Given the description of an element on the screen output the (x, y) to click on. 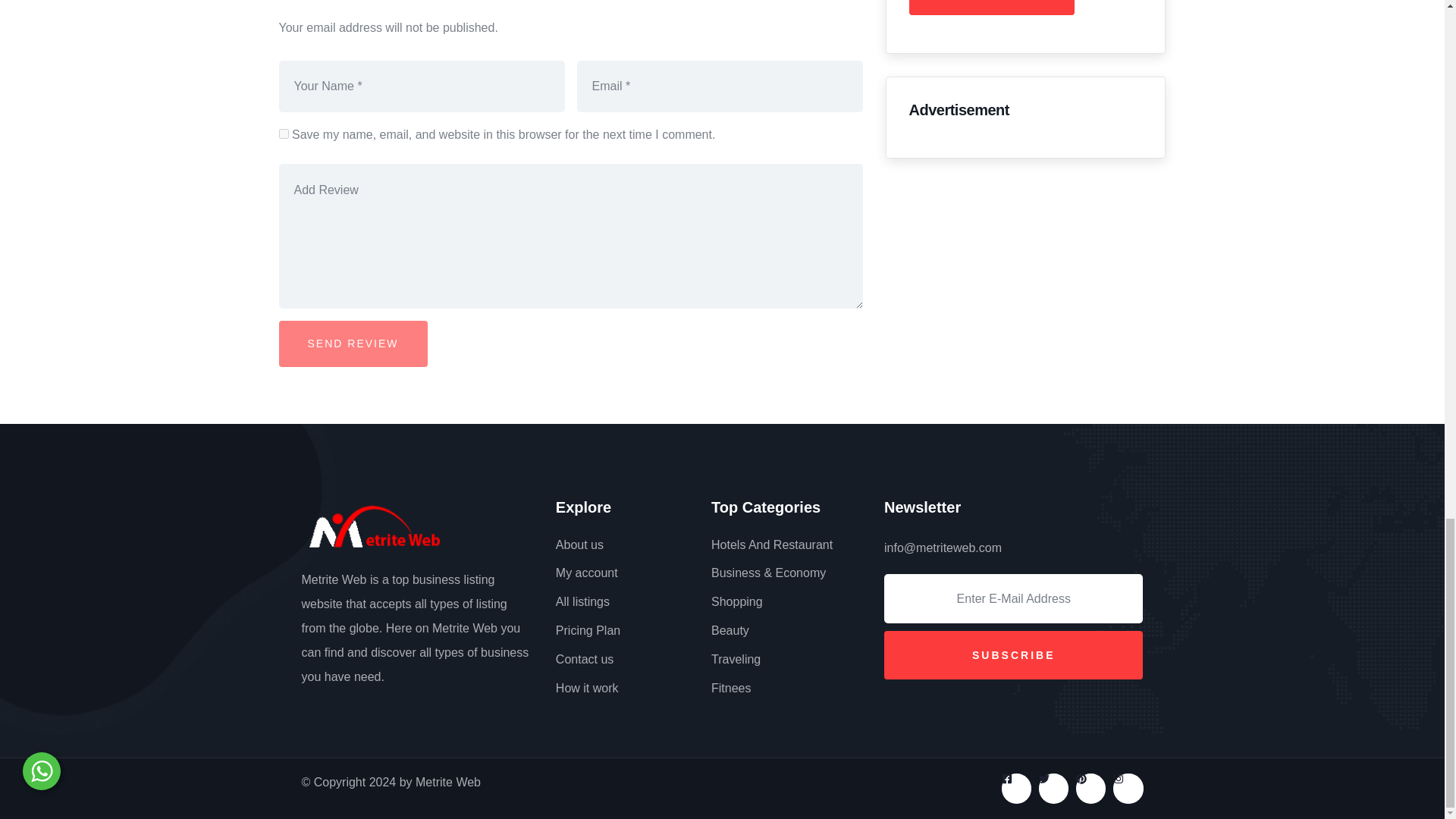
Send review (353, 343)
yes (283, 133)
Subscribe (1012, 654)
Send message (991, 7)
Home (343, 525)
